Given the description of an element on the screen output the (x, y) to click on. 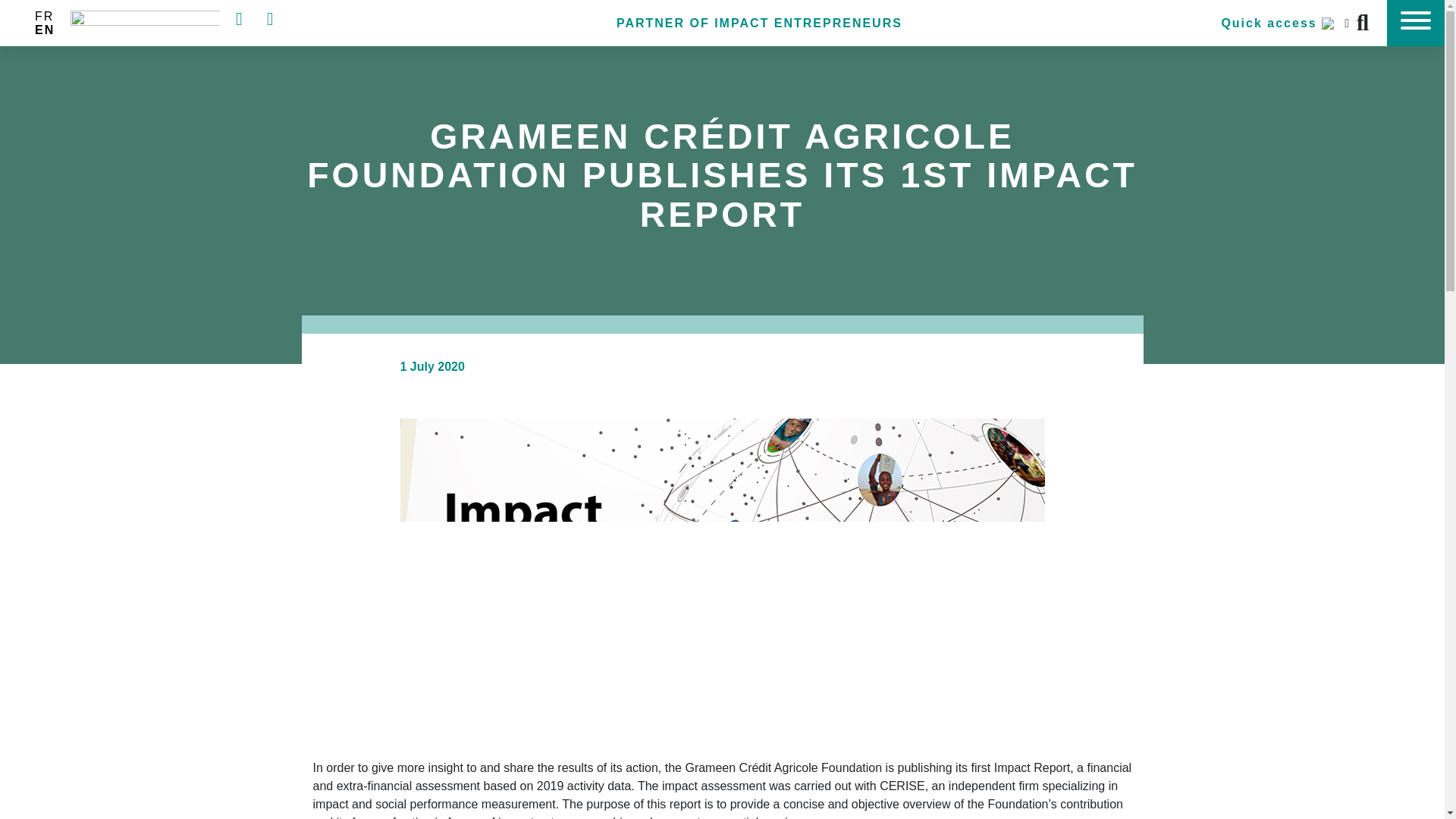
FR (43, 15)
EN (44, 29)
PARTNER OF IMPACT ENTREPRENEURS (758, 22)
